Given the description of an element on the screen output the (x, y) to click on. 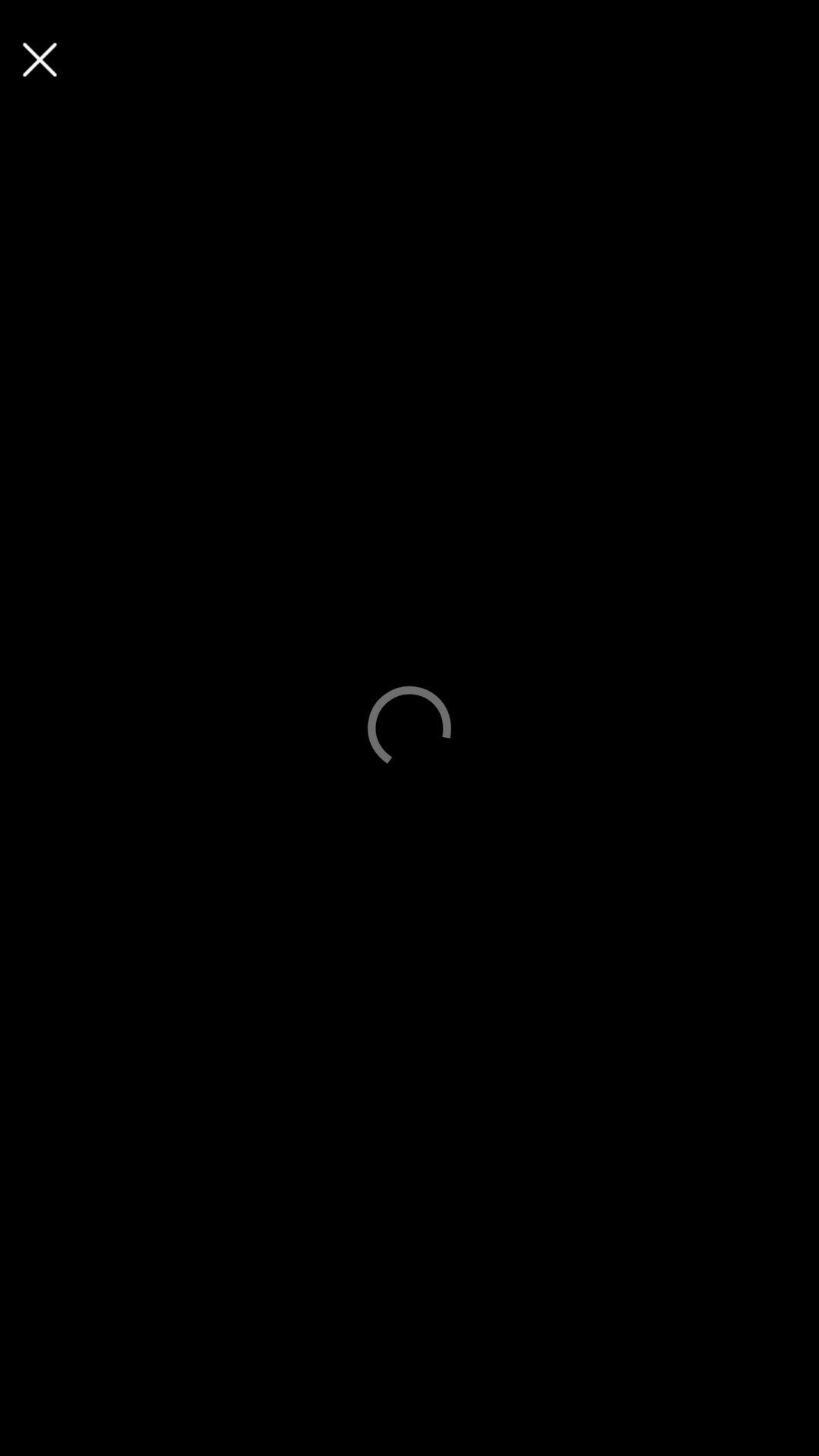
close the page (39, 59)
